Given the description of an element on the screen output the (x, y) to click on. 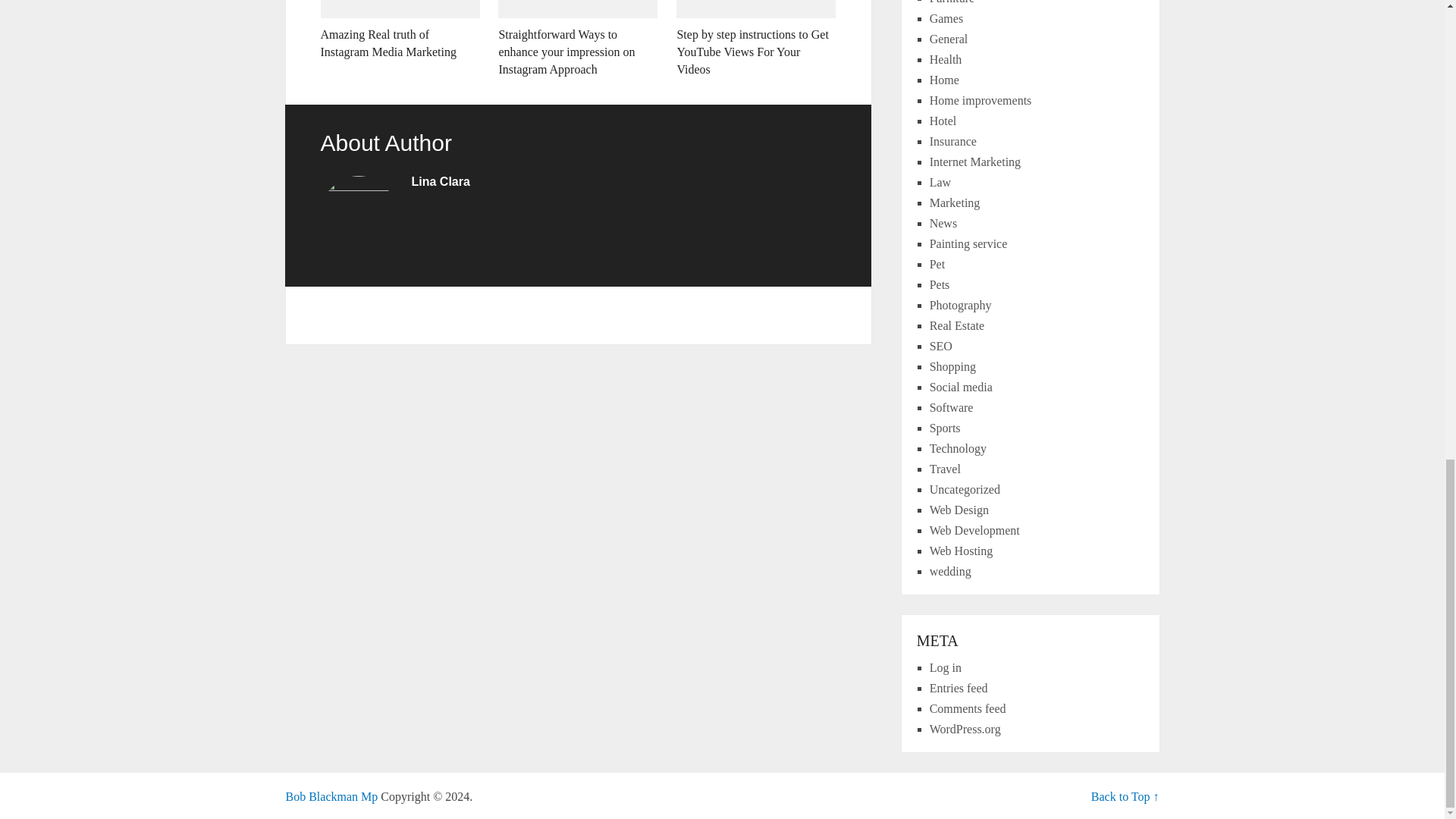
Games (946, 18)
Amazing Real truth of Instagram Media Marketing (399, 30)
Home (944, 79)
Amazing Real truth of Instagram Media Marketing (399, 30)
Health (946, 59)
Furniture (952, 2)
General (949, 38)
